Given the description of an element on the screen output the (x, y) to click on. 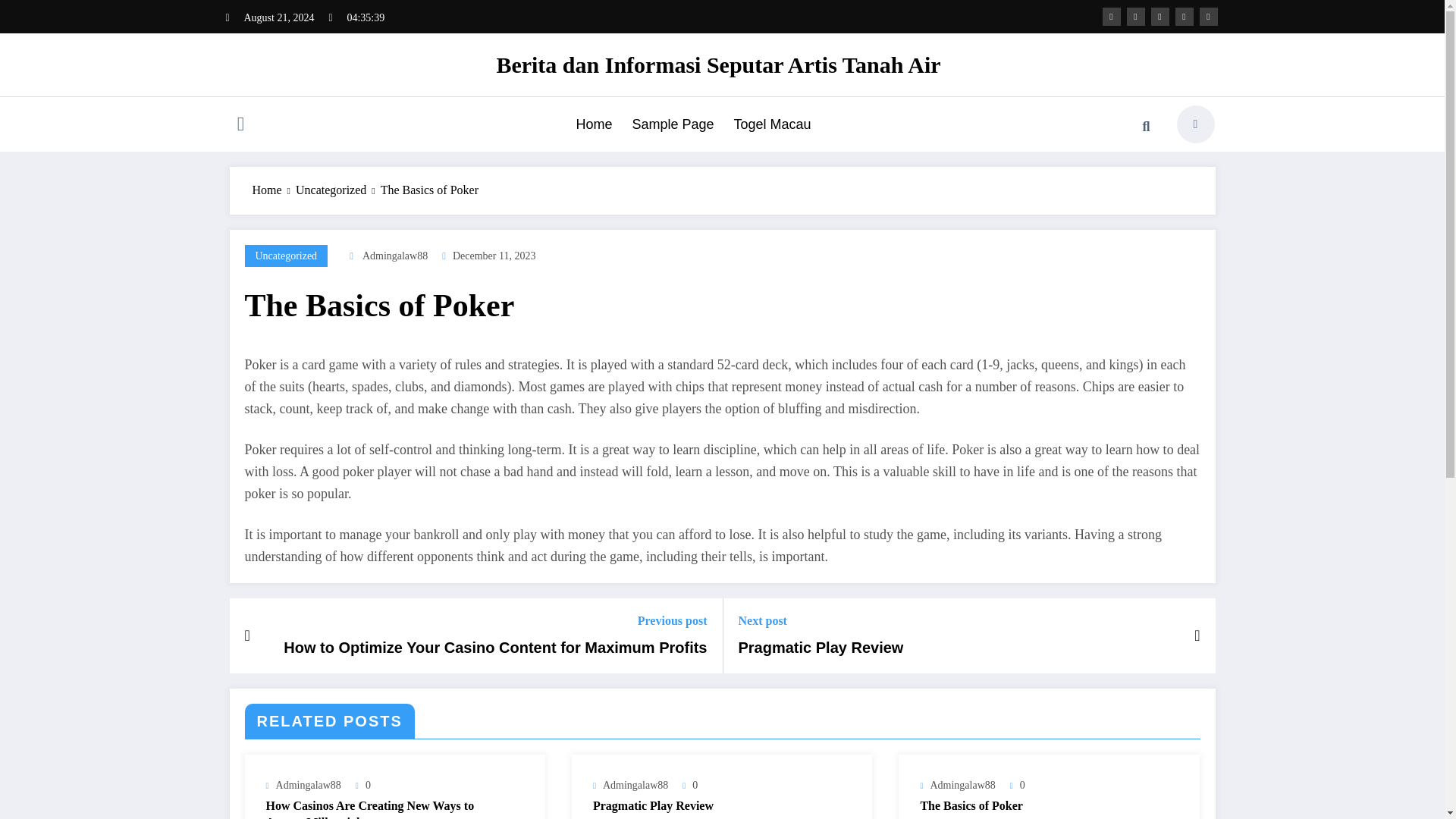
Admingalaw88 (962, 785)
Uncategorized (285, 255)
December 11, 2023 (493, 255)
How to Optimize Your Casino Content for Maximum Profits (494, 647)
Admingalaw88 (635, 785)
Pragmatic Play Review (710, 805)
Uncategorized (285, 255)
Pragmatic Play Review (821, 647)
instagram (1183, 16)
Toggle Icon (239, 125)
